Given the description of an element on the screen output the (x, y) to click on. 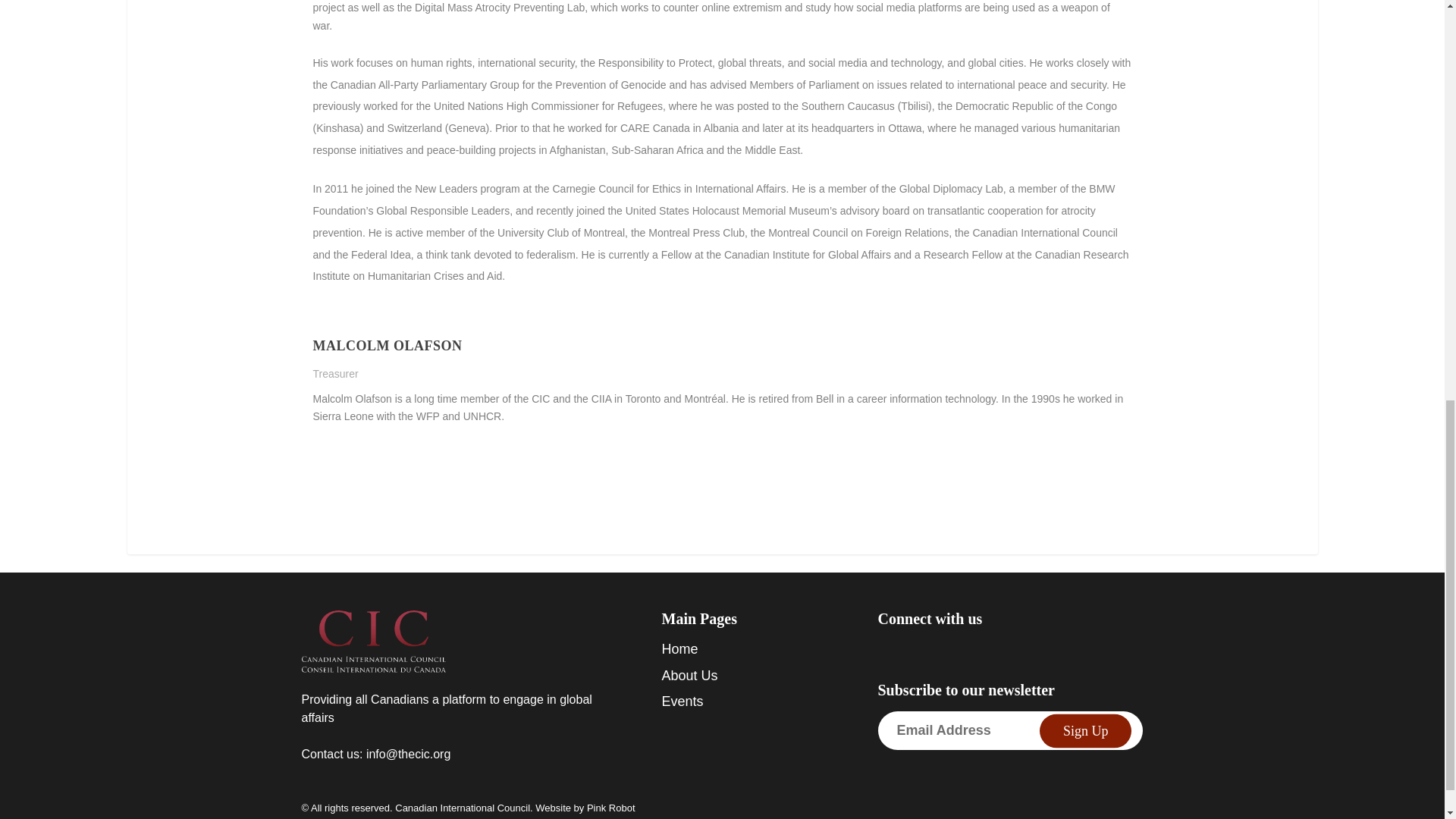
Sign Up (1085, 730)
